Given the description of an element on the screen output the (x, y) to click on. 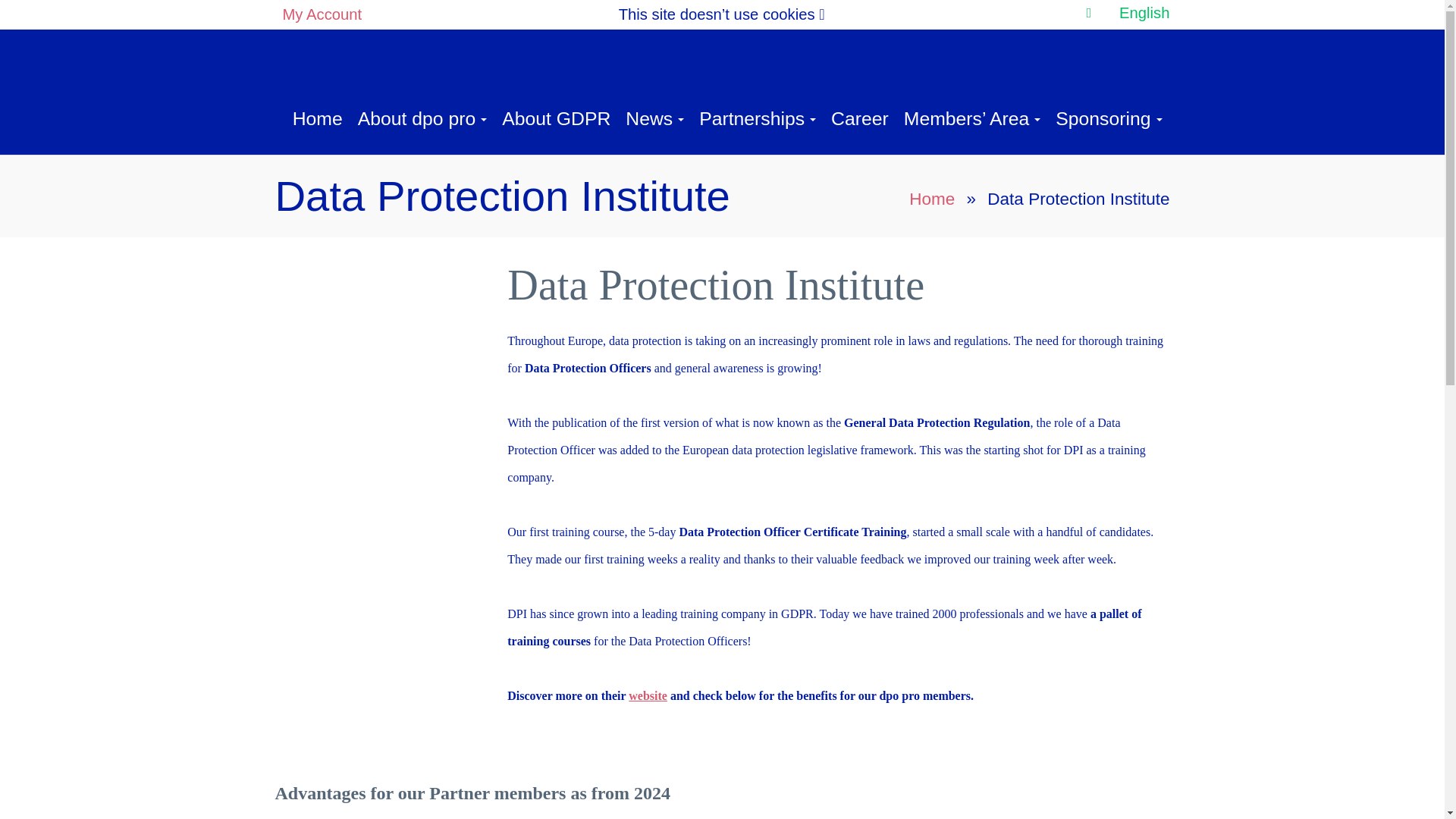
Home (317, 119)
LinkedIn (1088, 12)
Partnerships (757, 119)
Home (931, 198)
About dpo pro (422, 119)
website (647, 695)
About GDPR (556, 119)
Career (860, 119)
My Account (322, 14)
News (654, 119)
